Given the description of an element on the screen output the (x, y) to click on. 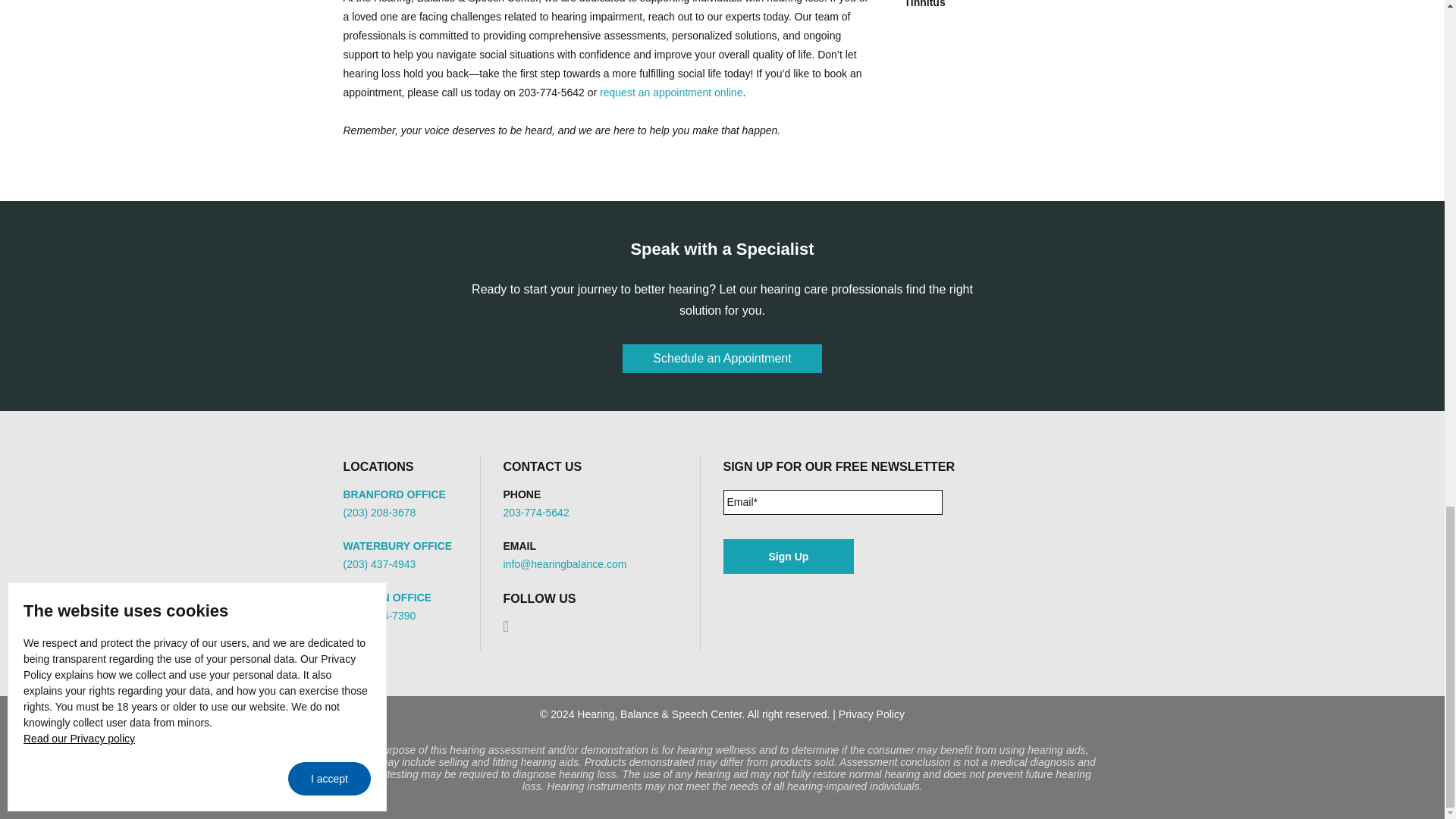
Sign Up (788, 556)
